Given the description of an element on the screen output the (x, y) to click on. 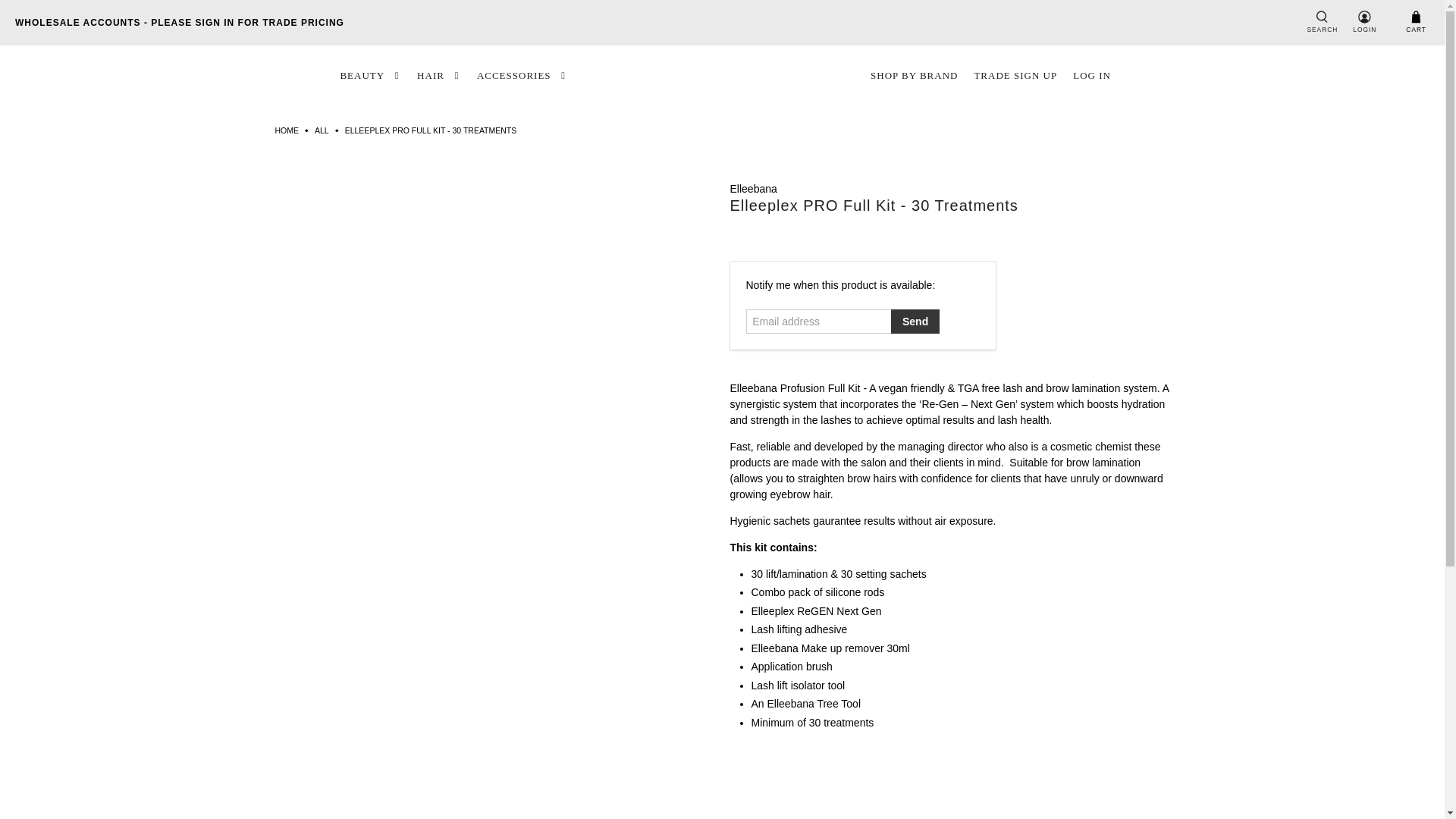
SEARCH (1321, 22)
Luxe Pacifique (286, 130)
Elleebana (752, 188)
BEAUTY (370, 75)
Send (915, 321)
Luxe Pacifique (721, 74)
CART (1415, 22)
WHOLESALE ACCOUNTS - PLEASE SIGN IN FOR TRADE PRICING (178, 22)
